Given the description of an element on the screen output the (x, y) to click on. 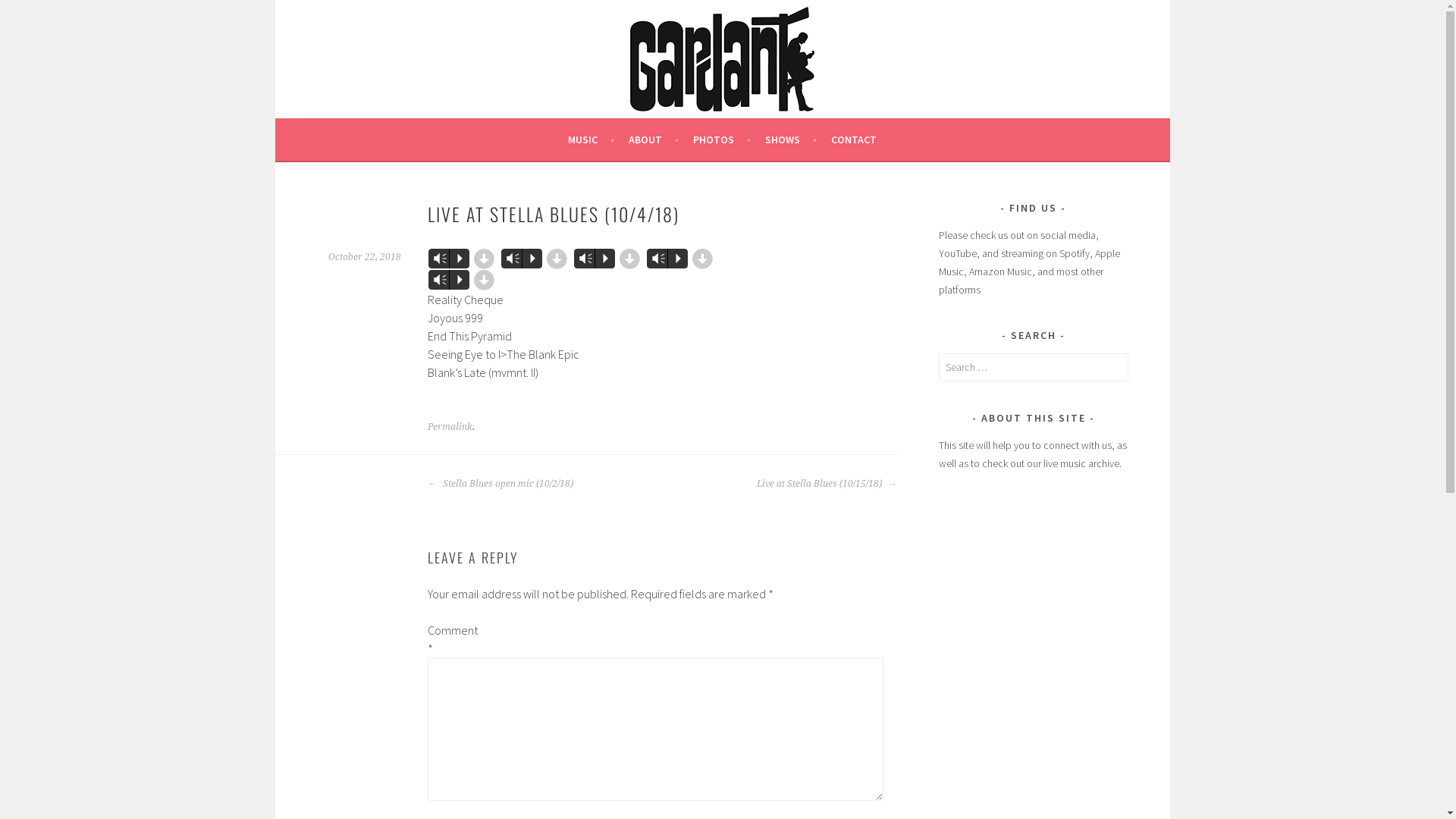
d Element type: text (629, 258)
MUSIC Element type: text (590, 139)
ABOUT Element type: text (653, 139)
CONTACT Element type: text (853, 139)
PHOTOS Element type: text (721, 139)
d Element type: text (484, 258)
Search Element type: text (27, 13)
d Element type: text (556, 258)
SHOWS Element type: text (790, 139)
GARDANT Element type: text (368, 54)
Live at Stella Blues (10/15/18)  Element type: text (826, 483)
d Element type: text (484, 279)
Permalink Element type: text (449, 426)
 Stella Blues open mic (10/2/18) Element type: text (500, 483)
October 22, 2018 Element type: text (363, 256)
d Element type: text (702, 258)
